Given the description of an element on the screen output the (x, y) to click on. 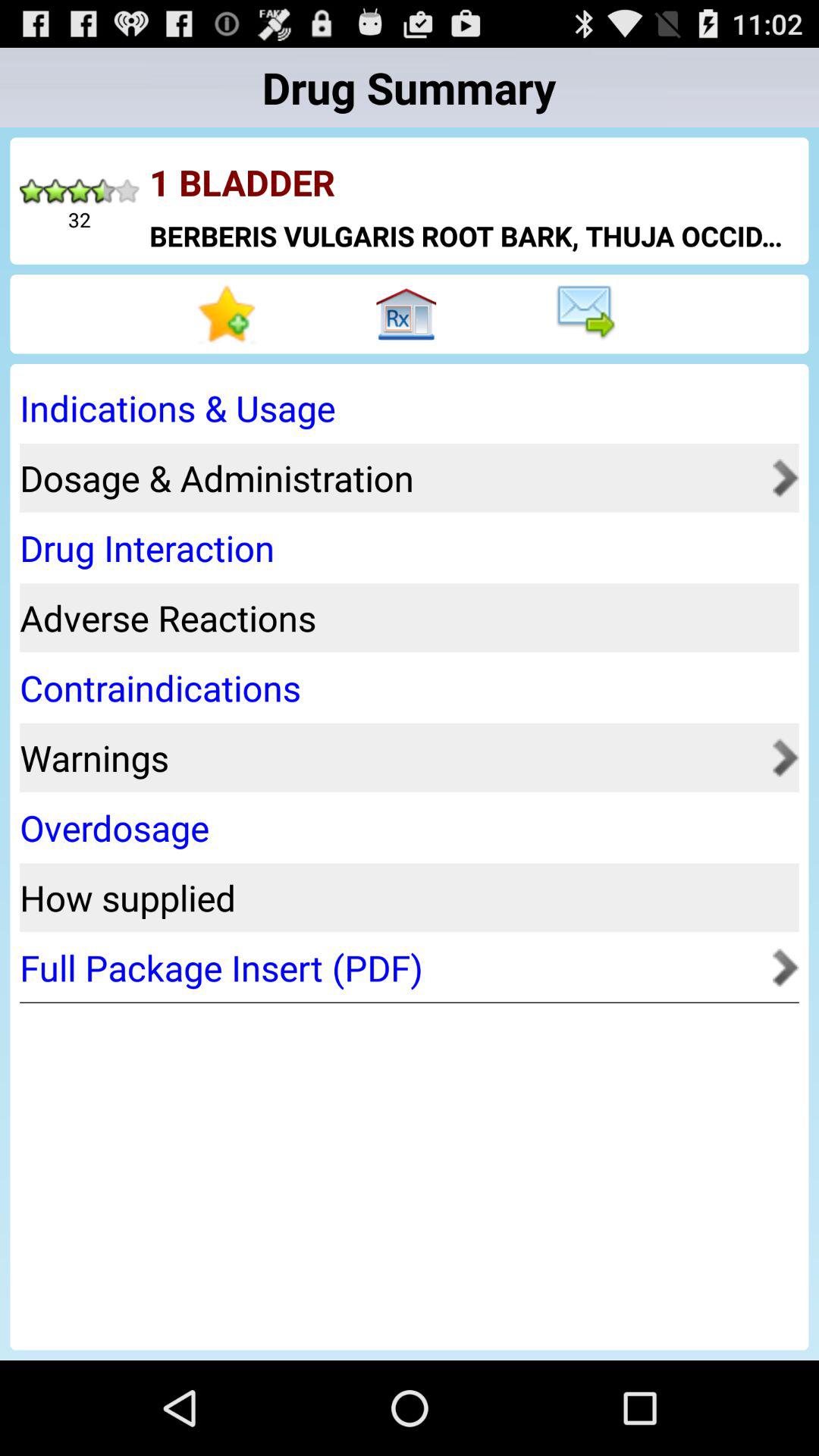
swipe to the how supplied icon (403, 897)
